Given the description of an element on the screen output the (x, y) to click on. 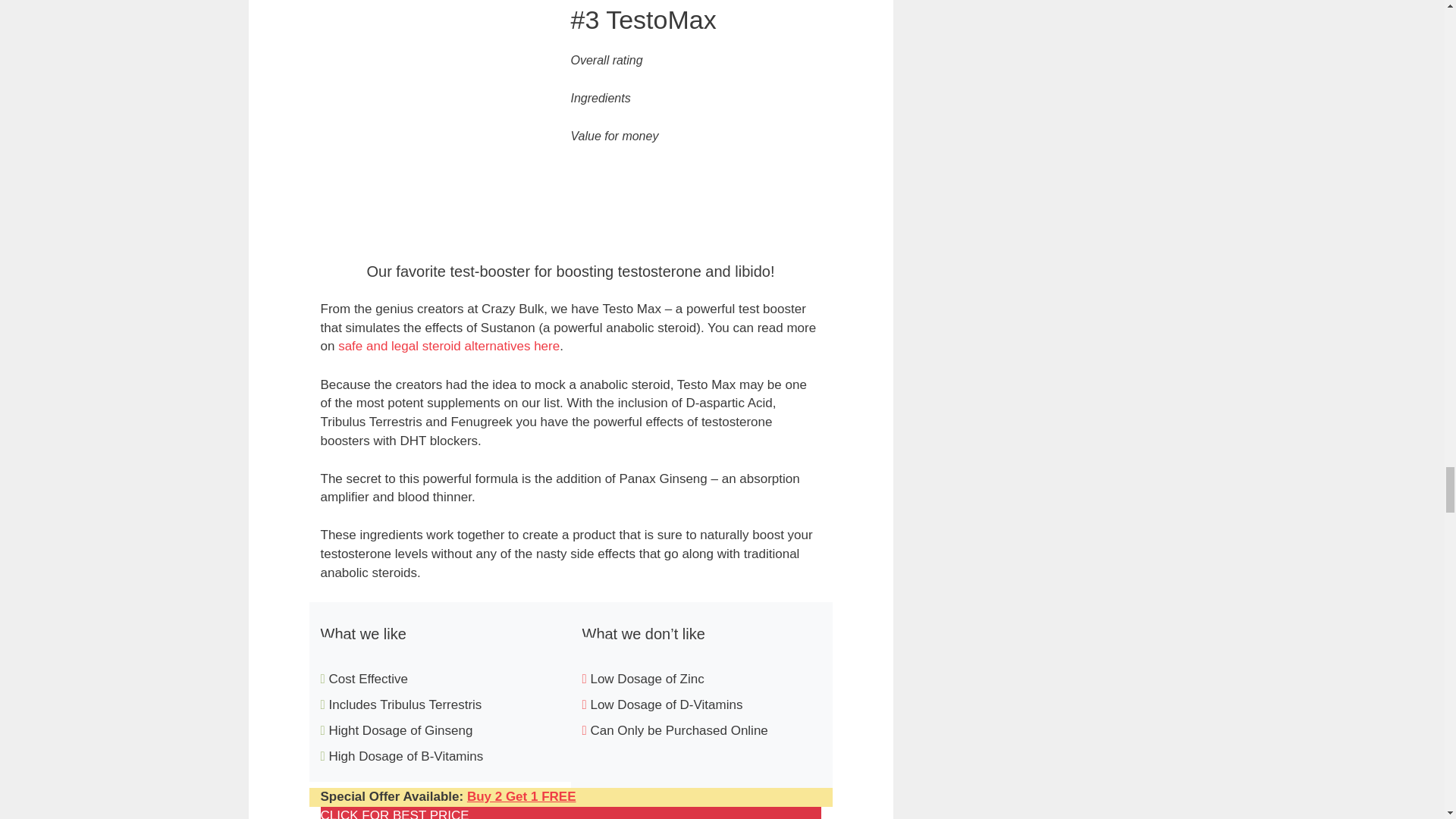
TestoMax (521, 796)
